Given the description of an element on the screen output the (x, y) to click on. 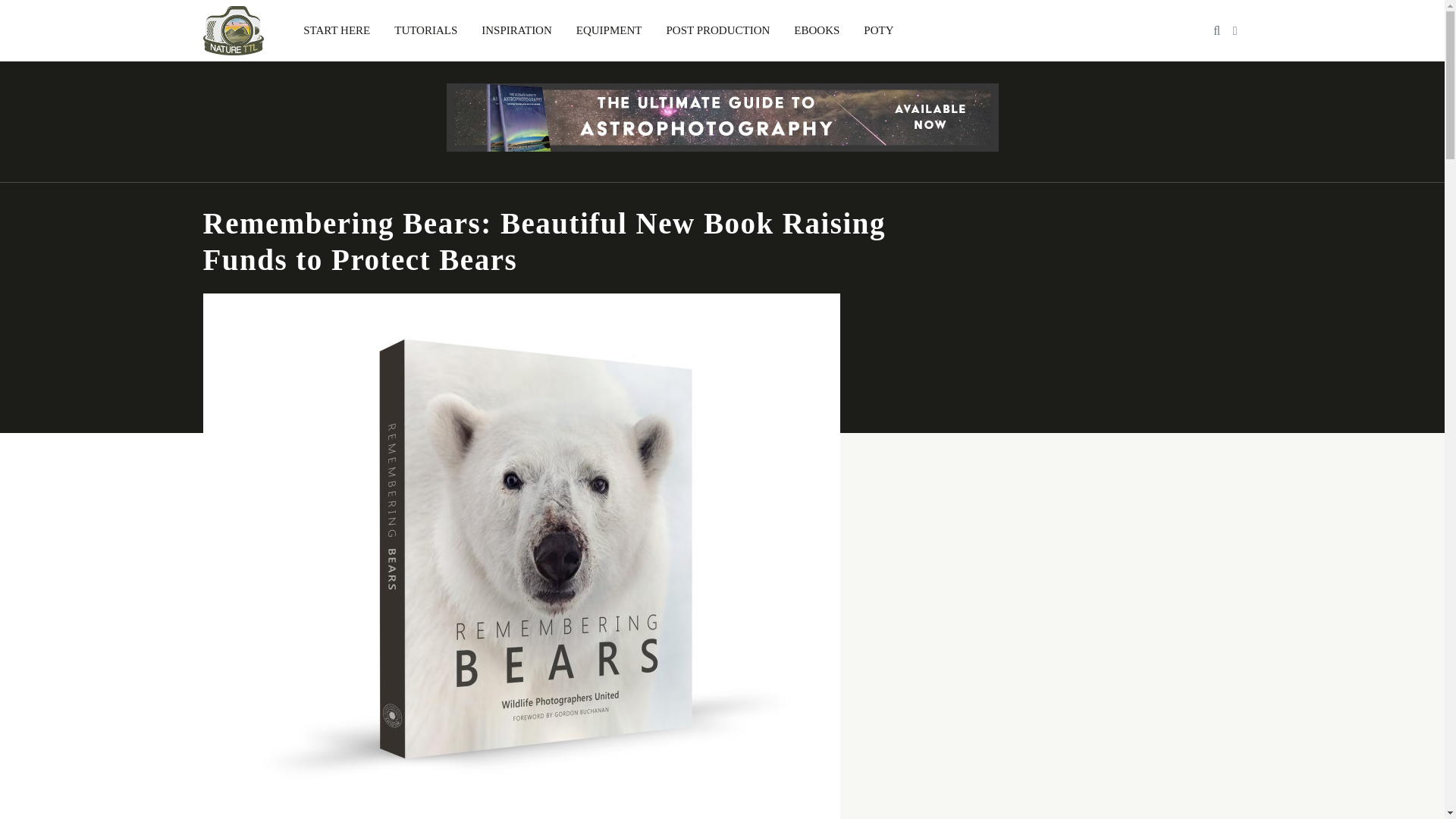
TUTORIALS (424, 30)
START HERE (336, 30)
